Given the description of an element on the screen output the (x, y) to click on. 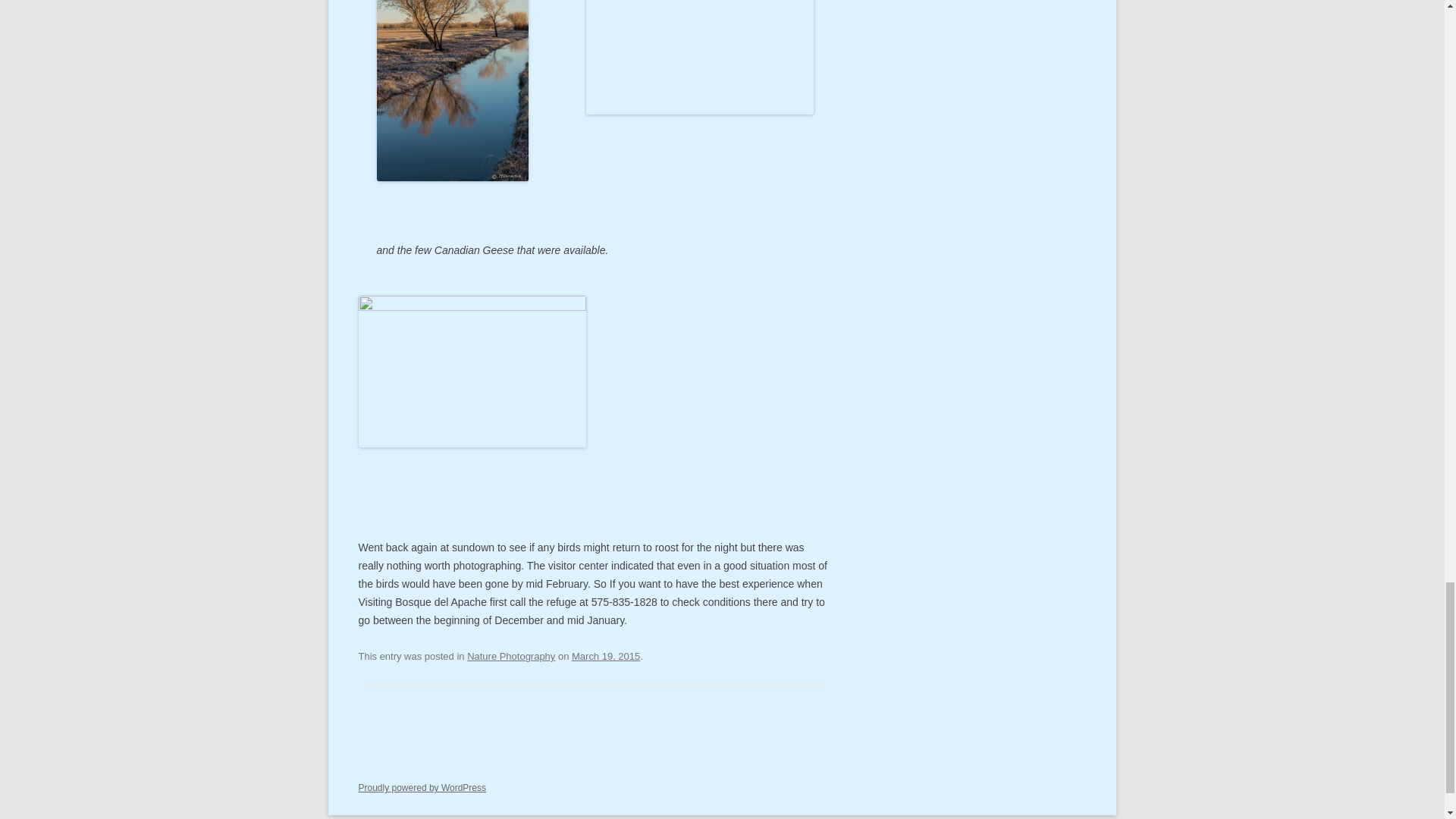
March 19, 2015 (606, 655)
Semantic Personal Publishing Platform (422, 787)
Nature Photography (510, 655)
3:03 PM (606, 655)
